Given the description of an element on the screen output the (x, y) to click on. 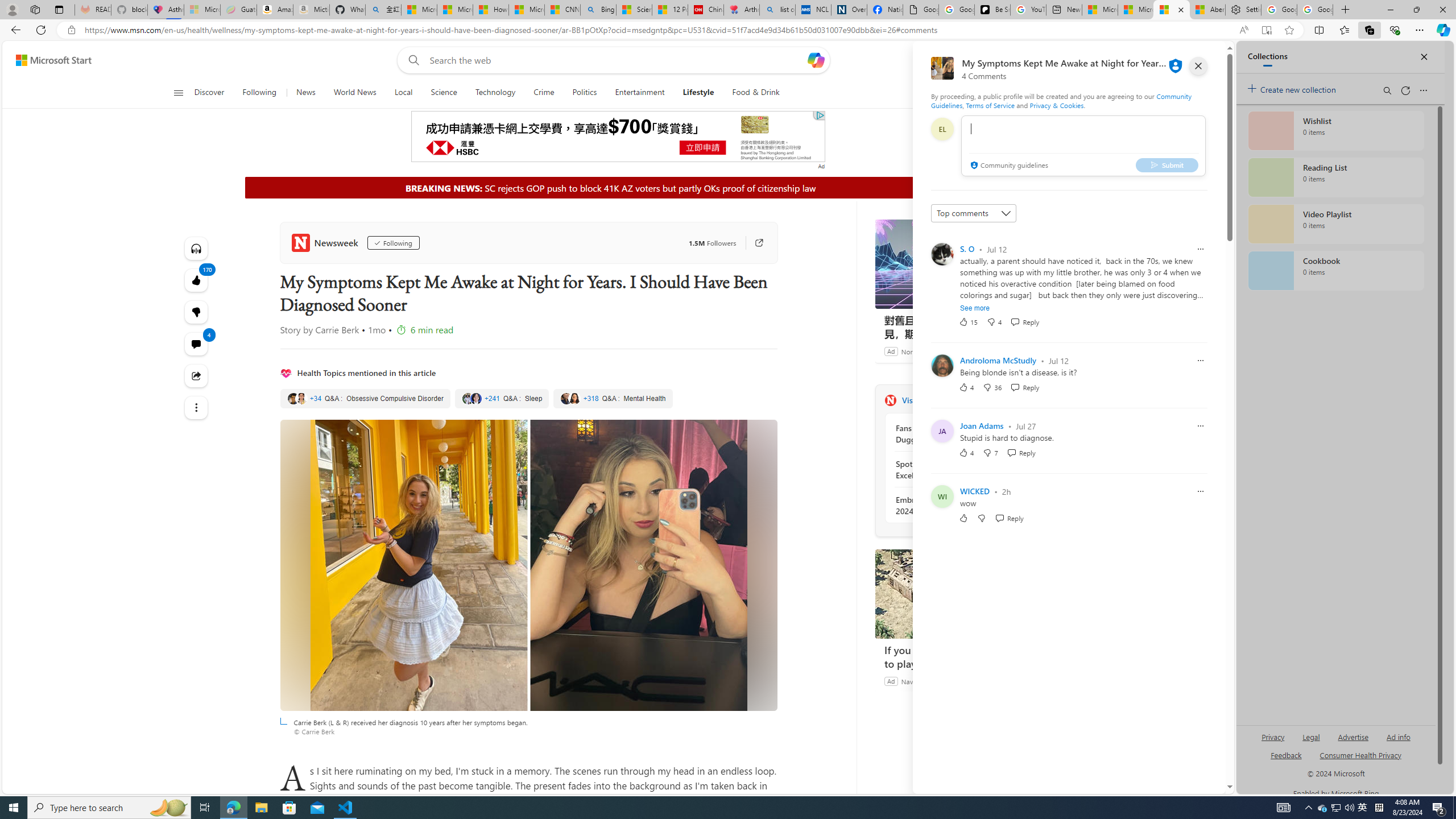
Report comment (1200, 490)
Navy Quest Game (928, 681)
WICKED (974, 491)
Newsweek (326, 242)
